Given the description of an element on the screen output the (x, y) to click on. 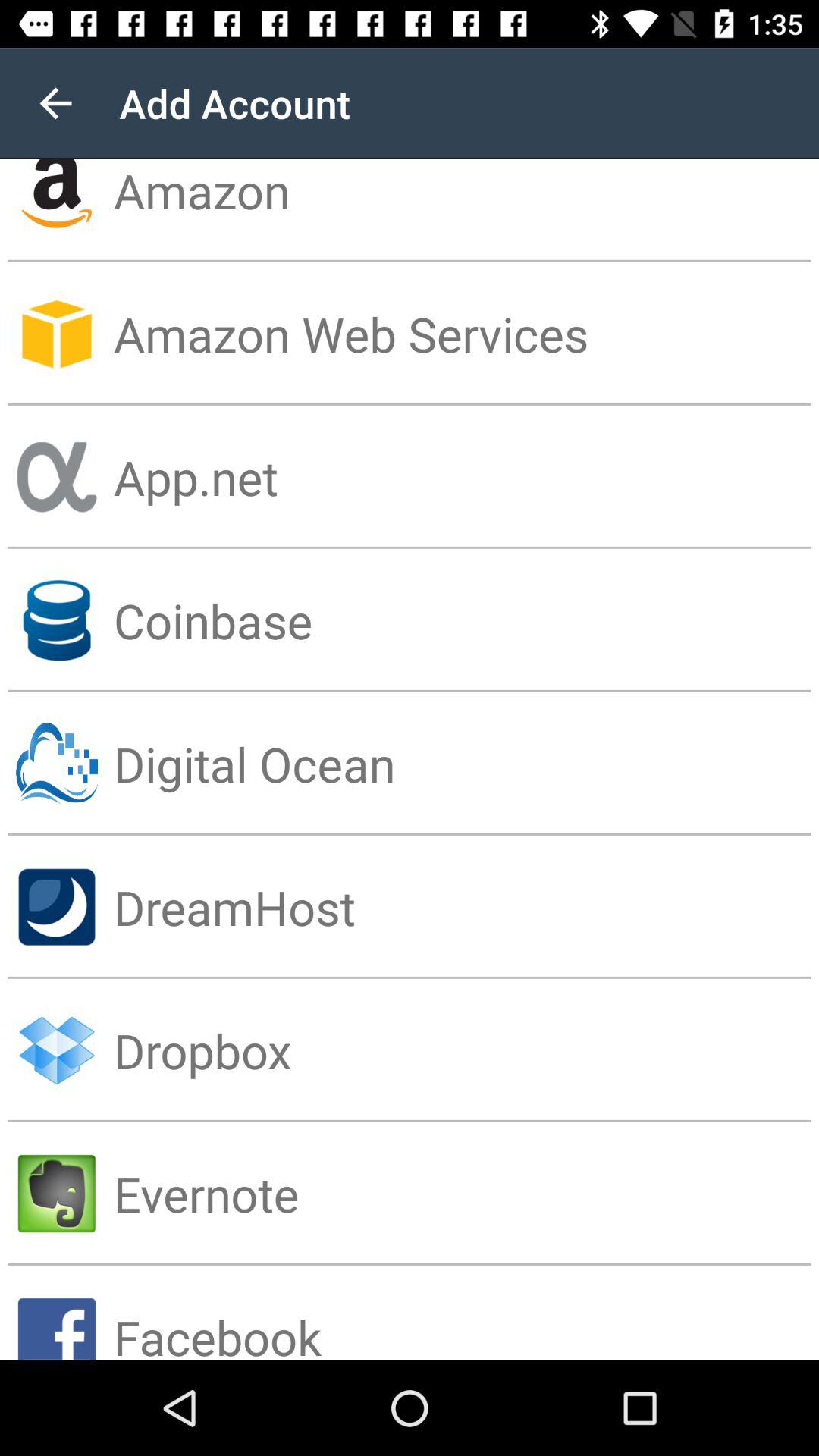
press the icon below digital ocean item (466, 906)
